Given the description of an element on the screen output the (x, y) to click on. 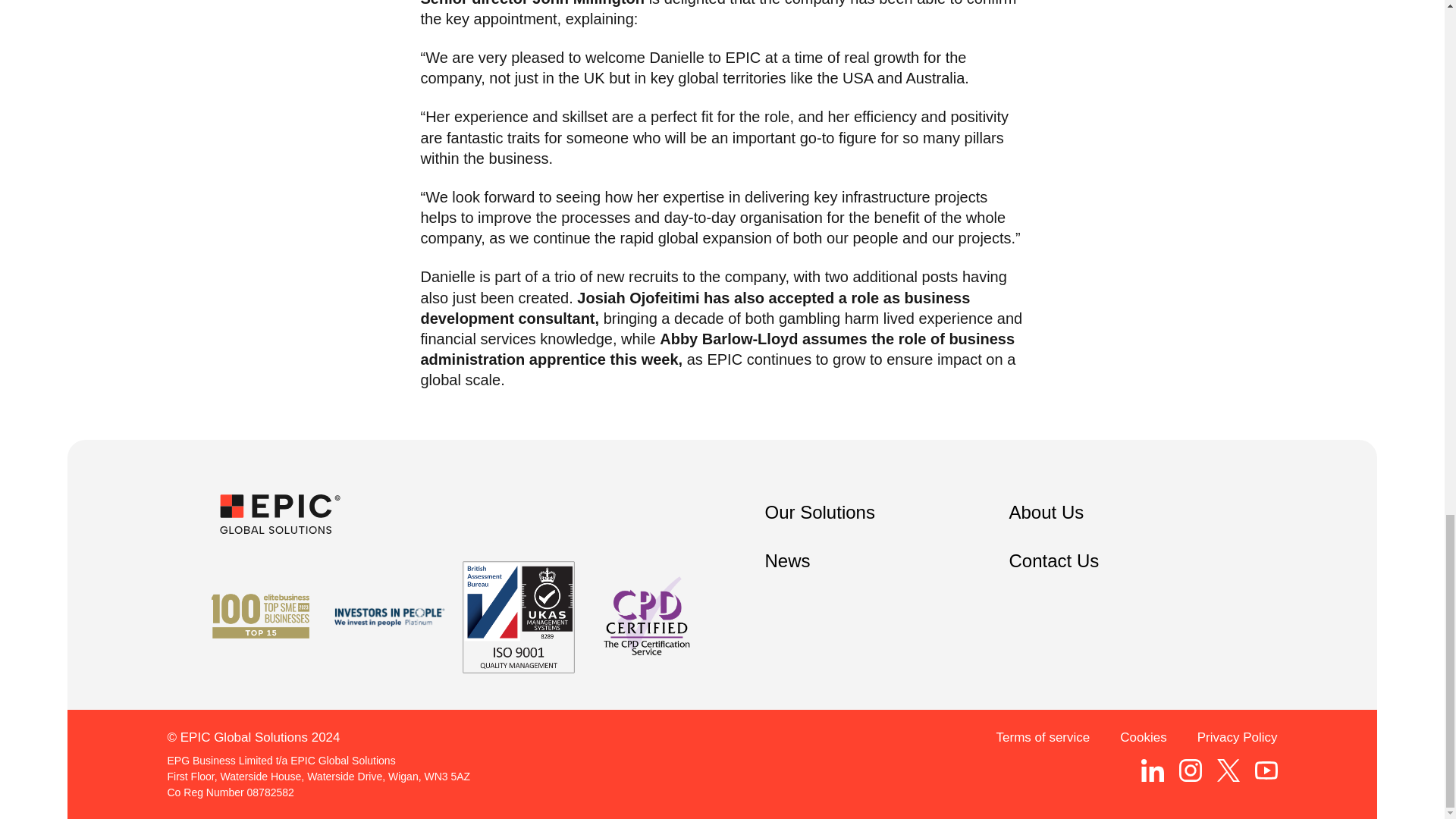
Cookies (1142, 737)
Our Solutions (819, 512)
News (786, 560)
Contact Us (1054, 560)
Terms of service (1042, 737)
About Us (1046, 512)
Privacy Policy (1237, 737)
